Given the description of an element on the screen output the (x, y) to click on. 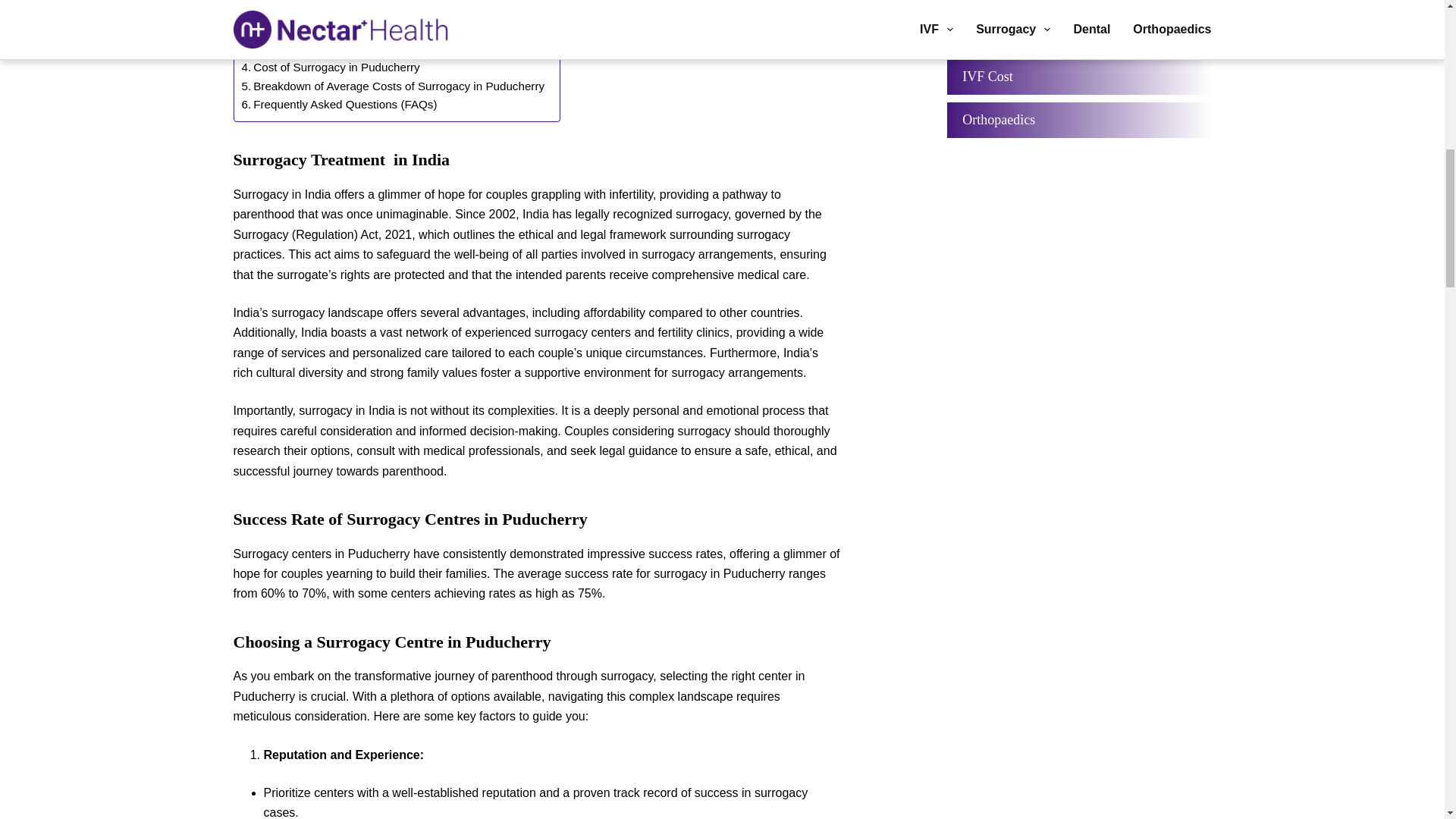
Cost of Surrogacy in Puducherry (330, 67)
Breakdown of Average Costs of Surrogacy in Puducherry (392, 85)
Surrogacy Treatment  in India (322, 12)
Success Rate of Surrogacy Centres in Puducherry (376, 31)
Choosing a Surrogacy Centre in Puducherry (360, 49)
Cost of Surrogacy in Puducherry (330, 67)
Choosing a Surrogacy Centre in Puducherry (360, 49)
Breakdown of Average Costs of Surrogacy in Puducherry (392, 85)
Success Rate of Surrogacy Centres in Puducherry (376, 31)
